Given the description of an element on the screen output the (x, y) to click on. 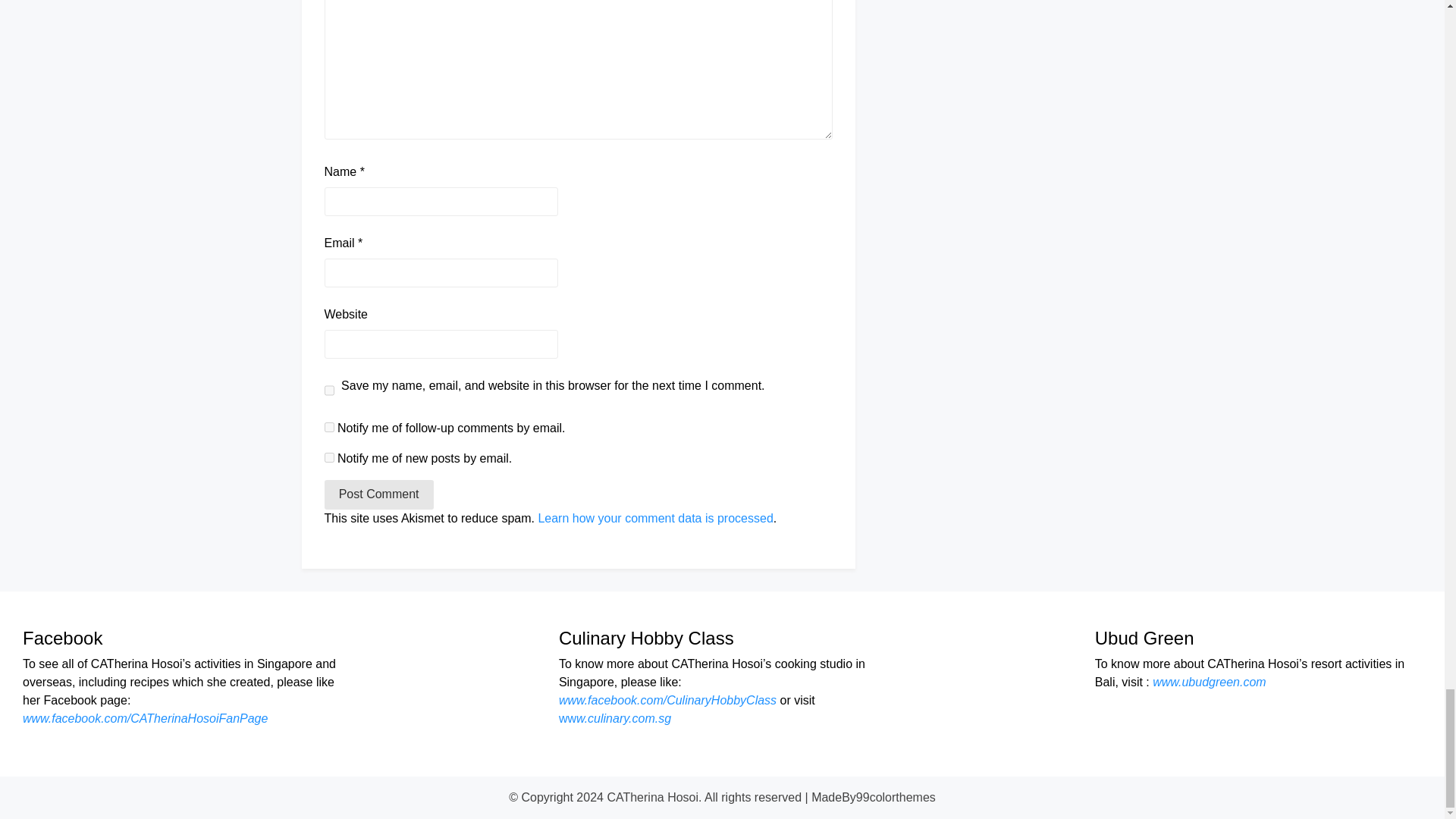
subscribe (329, 457)
subscribe (329, 427)
Post Comment (378, 493)
